Given the description of an element on the screen output the (x, y) to click on. 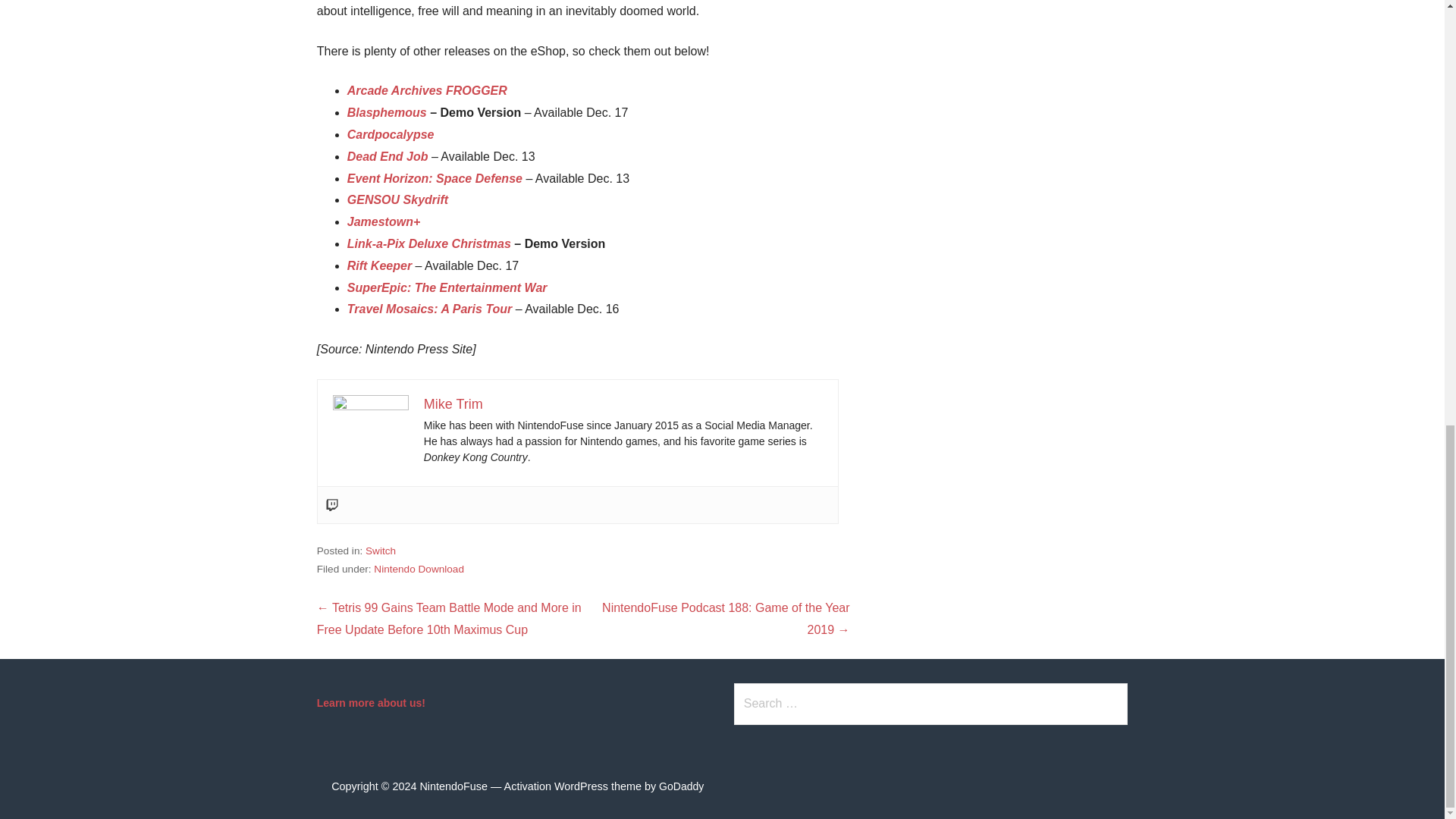
Rift Keeper (379, 265)
Blasphemous (386, 112)
Cardpocalypse (390, 133)
Travel Mosaics: A Paris Tour (429, 308)
Arcade Archives FROGGER (426, 90)
Event Horizon: Space Defense (434, 178)
Twitch (331, 504)
GENSOU Skydrift (397, 199)
GoDaddy (681, 786)
Switch (380, 550)
Link-a-Pix Deluxe Christmas (429, 243)
SuperEpic: The Entertainment War (447, 287)
Nintendo Download (419, 568)
Learn more about us! (371, 702)
Mike Trim (453, 403)
